Given the description of an element on the screen output the (x, y) to click on. 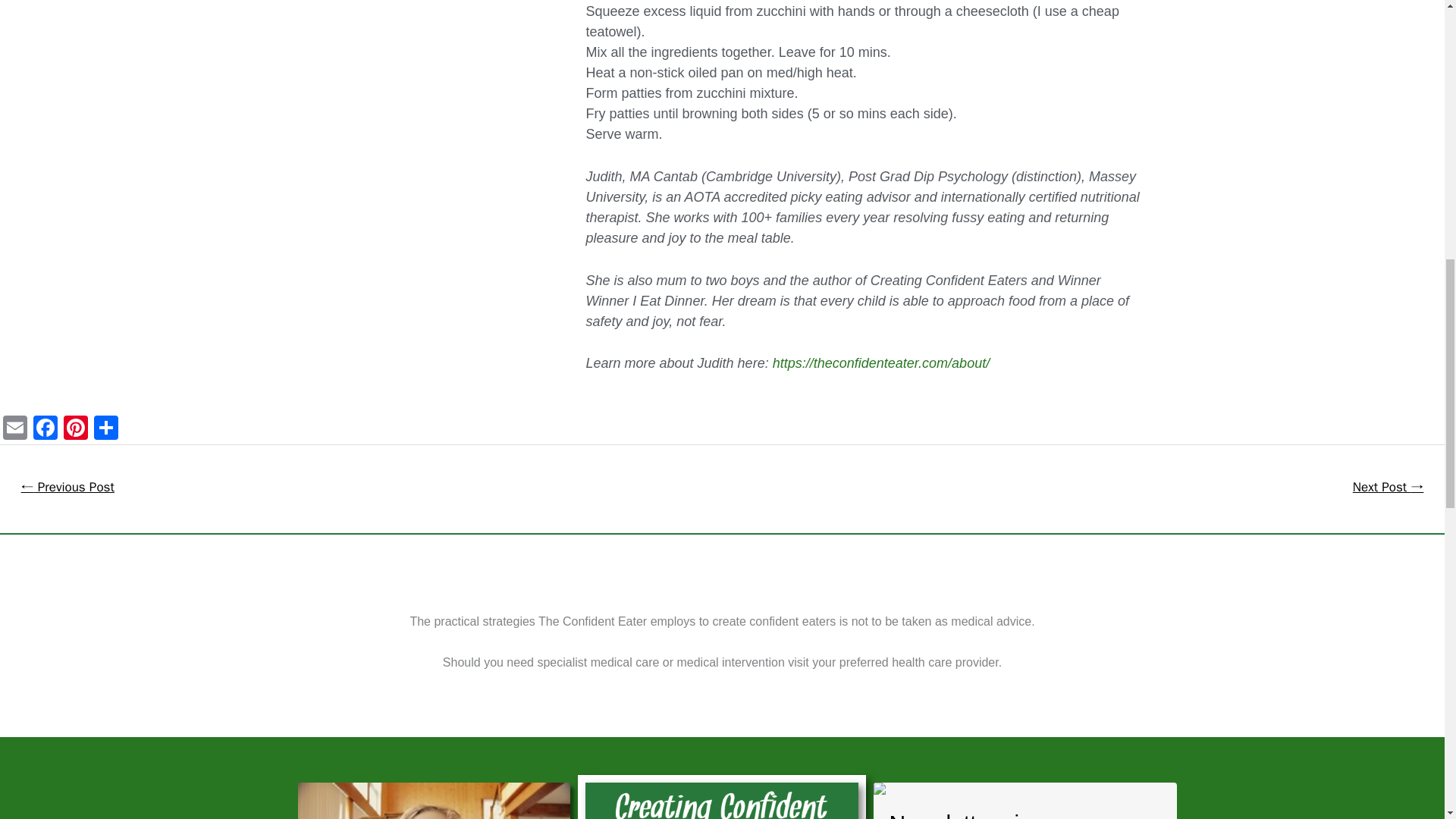
Share (105, 429)
Email (15, 429)
Email (15, 429)
Facebook (45, 429)
Facebook (45, 429)
Pinterest (75, 429)
Pinterest (75, 429)
